Given the description of an element on the screen output the (x, y) to click on. 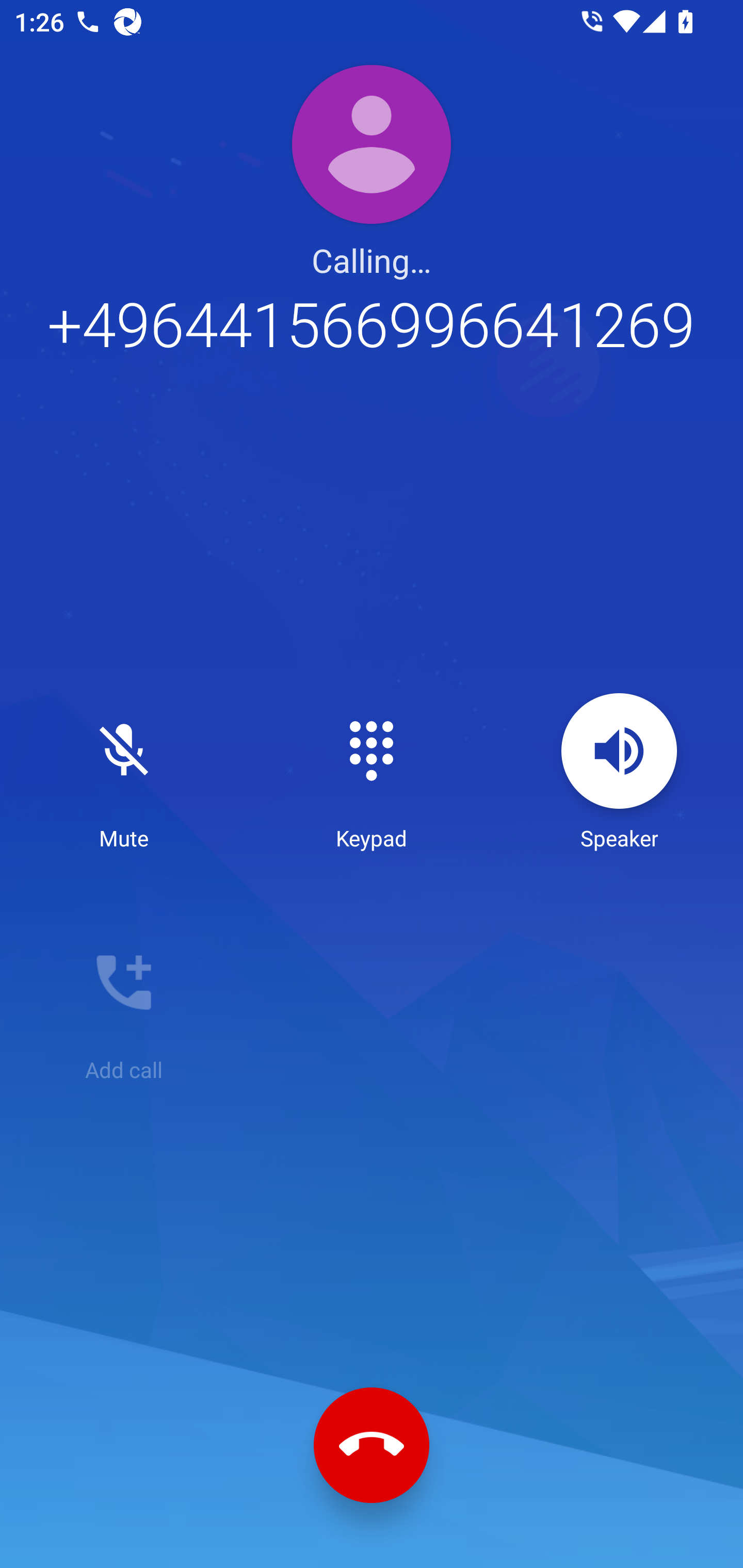
Unmuted Mute (123, 772)
Keypad (371, 772)
Speaker, is on Speaker (619, 772)
Add call (123, 1004)
End call (371, 1445)
